Given the description of an element on the screen output the (x, y) to click on. 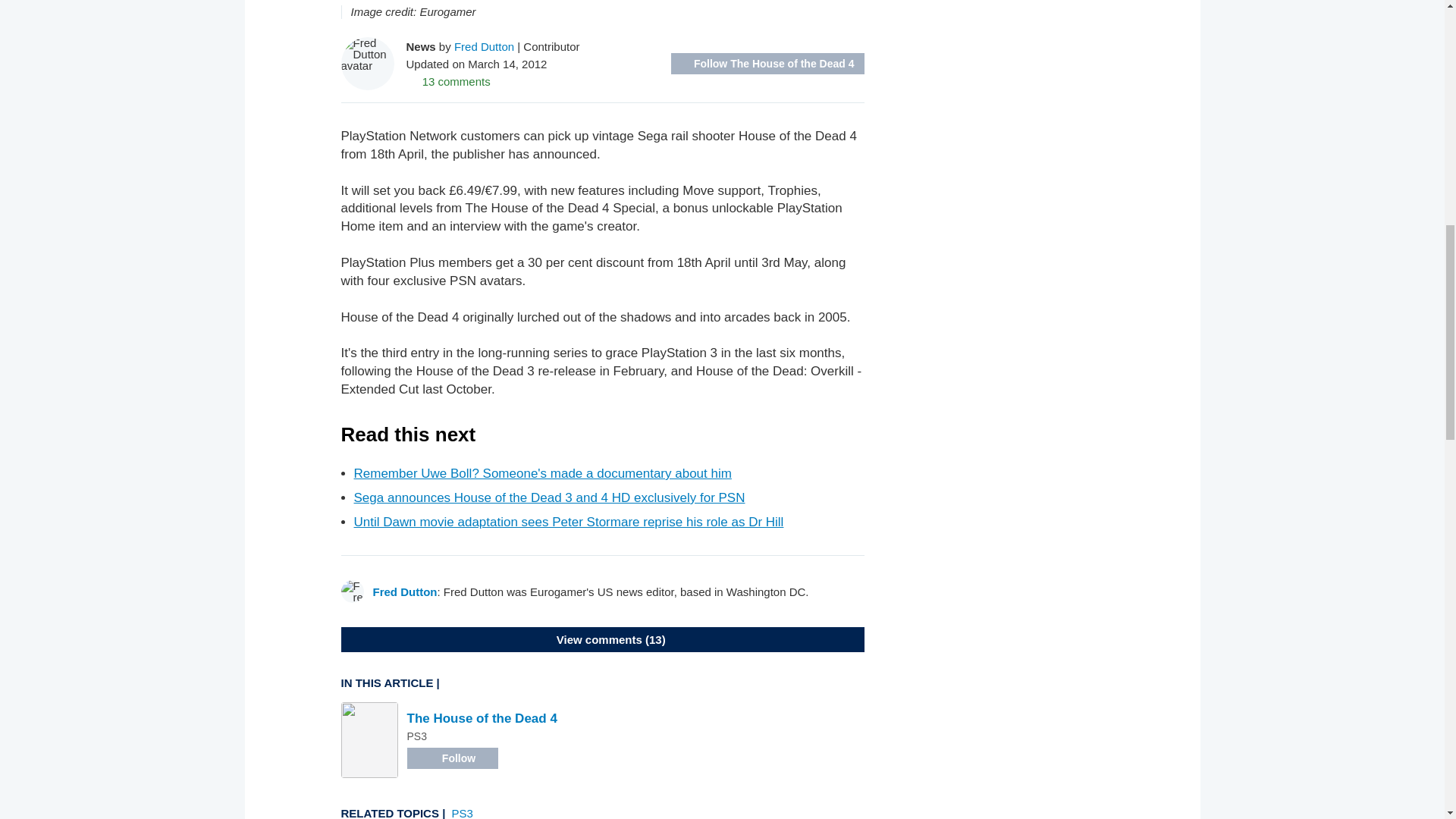
Follow The House of the Dead 4 (767, 63)
13 comments (448, 80)
Fred Dutton (405, 591)
Follow (451, 758)
Remember Uwe Boll? Someone's made a documentary about him (541, 473)
Fred Dutton (483, 45)
PS3 (462, 812)
The House of the Dead 4 (481, 718)
